Given the description of an element on the screen output the (x, y) to click on. 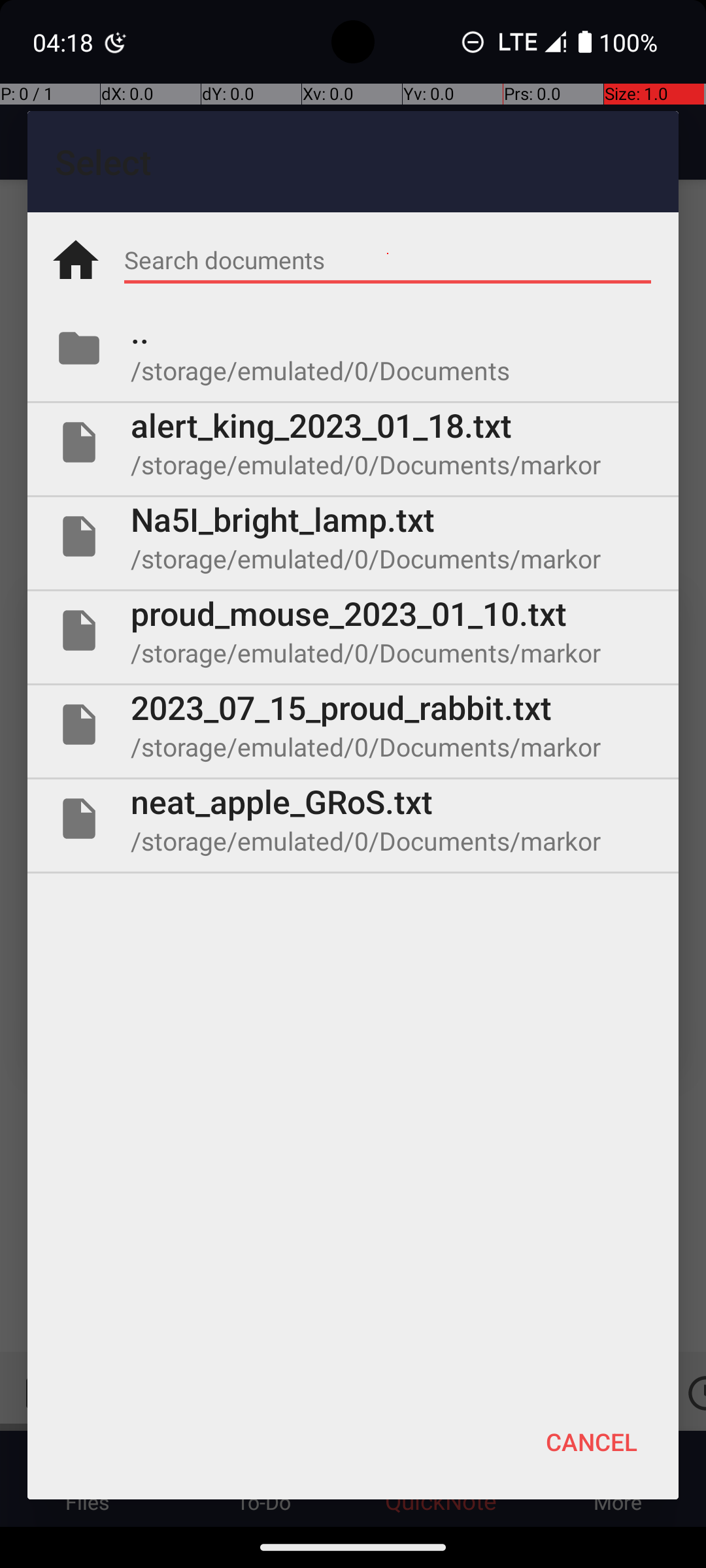
Select Element type: android.widget.TextView (352, 161)
File alert_king_2023_01_18.txt  Element type: android.widget.LinearLayout (352, 442)
File Na5I_bright_lamp.txt  Element type: android.widget.LinearLayout (352, 536)
File proud_mouse_2023_01_10.txt  Element type: android.widget.LinearLayout (352, 630)
File 2023_07_15_proud_rabbit.txt  Element type: android.widget.LinearLayout (352, 724)
File neat_apple_GRoS.txt  Element type: android.widget.LinearLayout (352, 818)
04:18 Element type: android.widget.TextView (64, 41)
Digital Wellbeing notification: Bedtime mode is on Element type: android.widget.ImageView (115, 41)
